Given the description of an element on the screen output the (x, y) to click on. 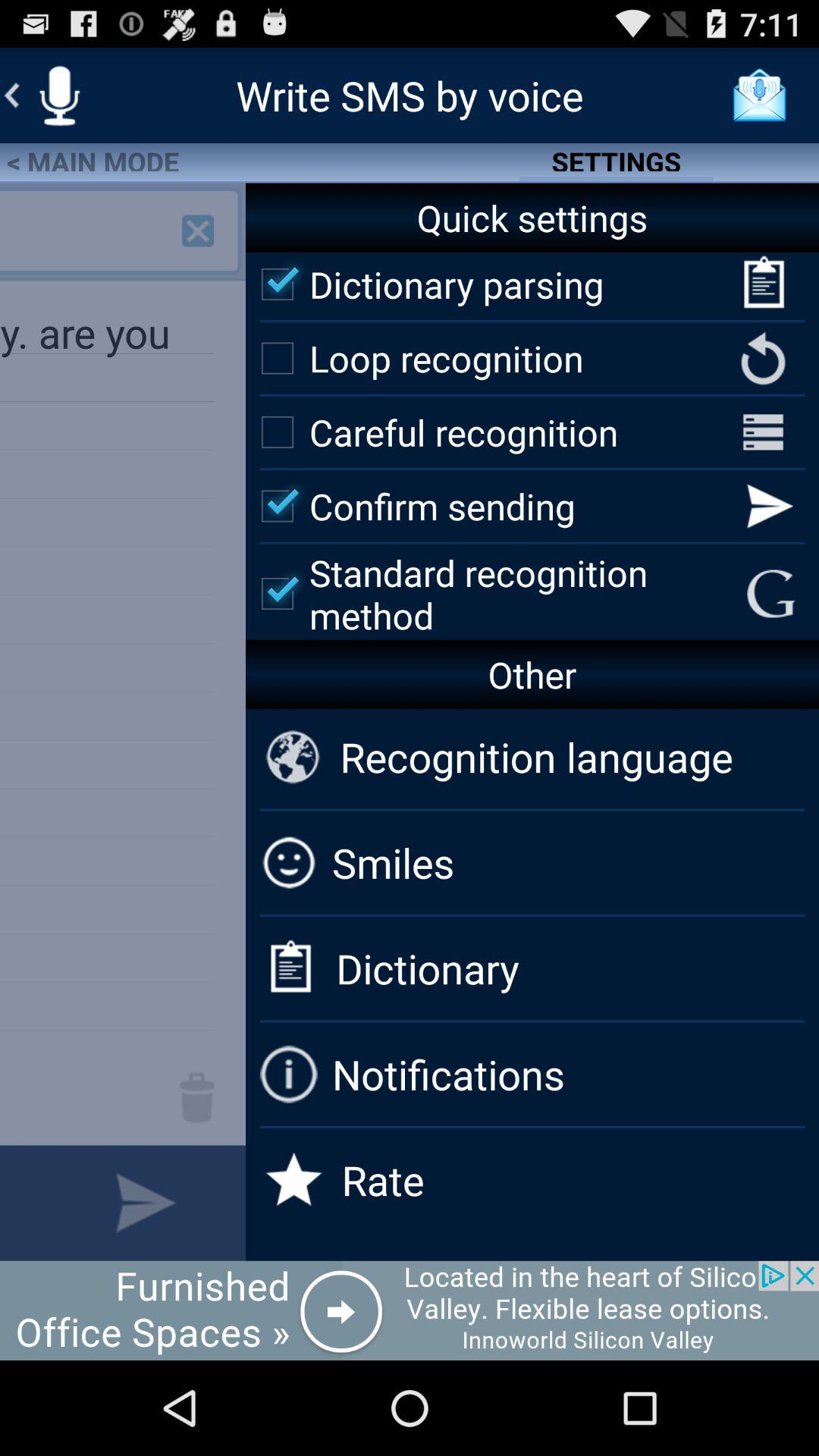
activate microphone (59, 95)
